Given the description of an element on the screen output the (x, y) to click on. 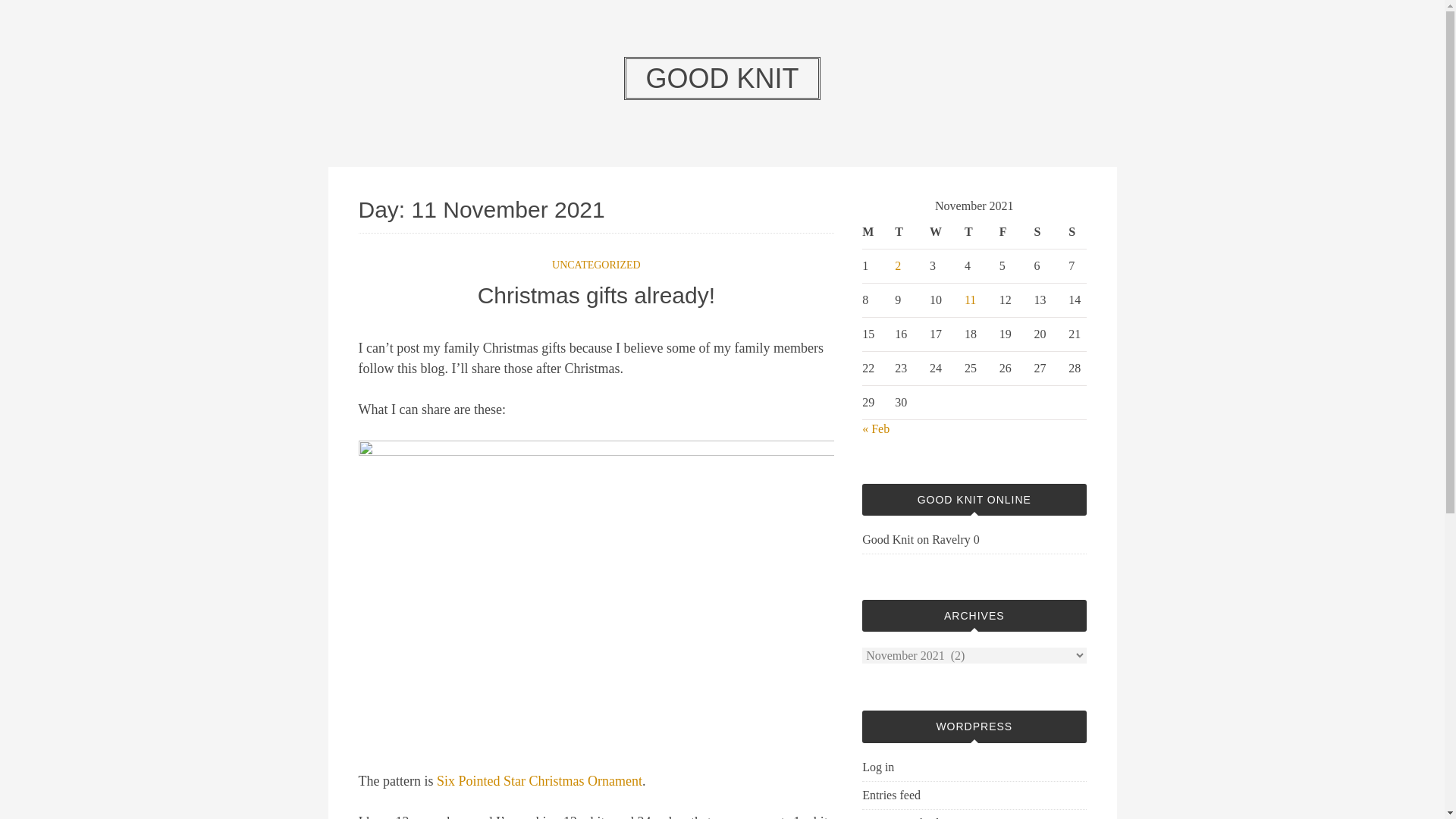
Christmas gifts already! (595, 294)
Friday (1008, 232)
Saturday (1043, 232)
Six Pointed Star Christmas Ornament (539, 780)
Thursday (973, 232)
Entries feed (890, 794)
Good Knit on Ravelry (916, 539)
Log in (877, 766)
Tuesday (903, 232)
UNCATEGORIZED (595, 265)
GOOD KNIT (721, 77)
Wednesday (938, 232)
Comments feed (900, 817)
